Given the description of an element on the screen output the (x, y) to click on. 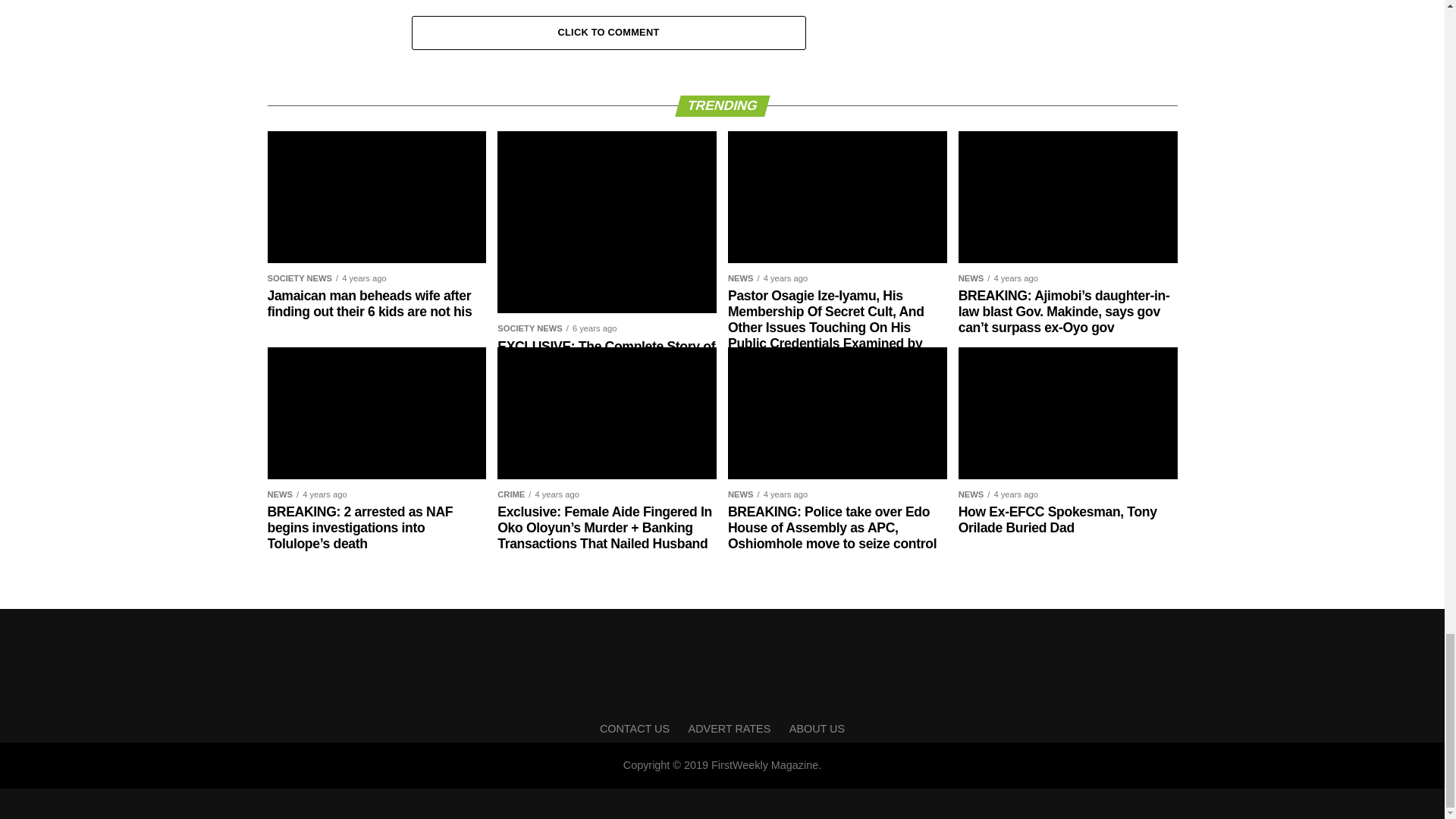
ABOUT US (816, 728)
ADVERT RATES (729, 728)
CONTACT US (634, 728)
